Given the description of an element on the screen output the (x, y) to click on. 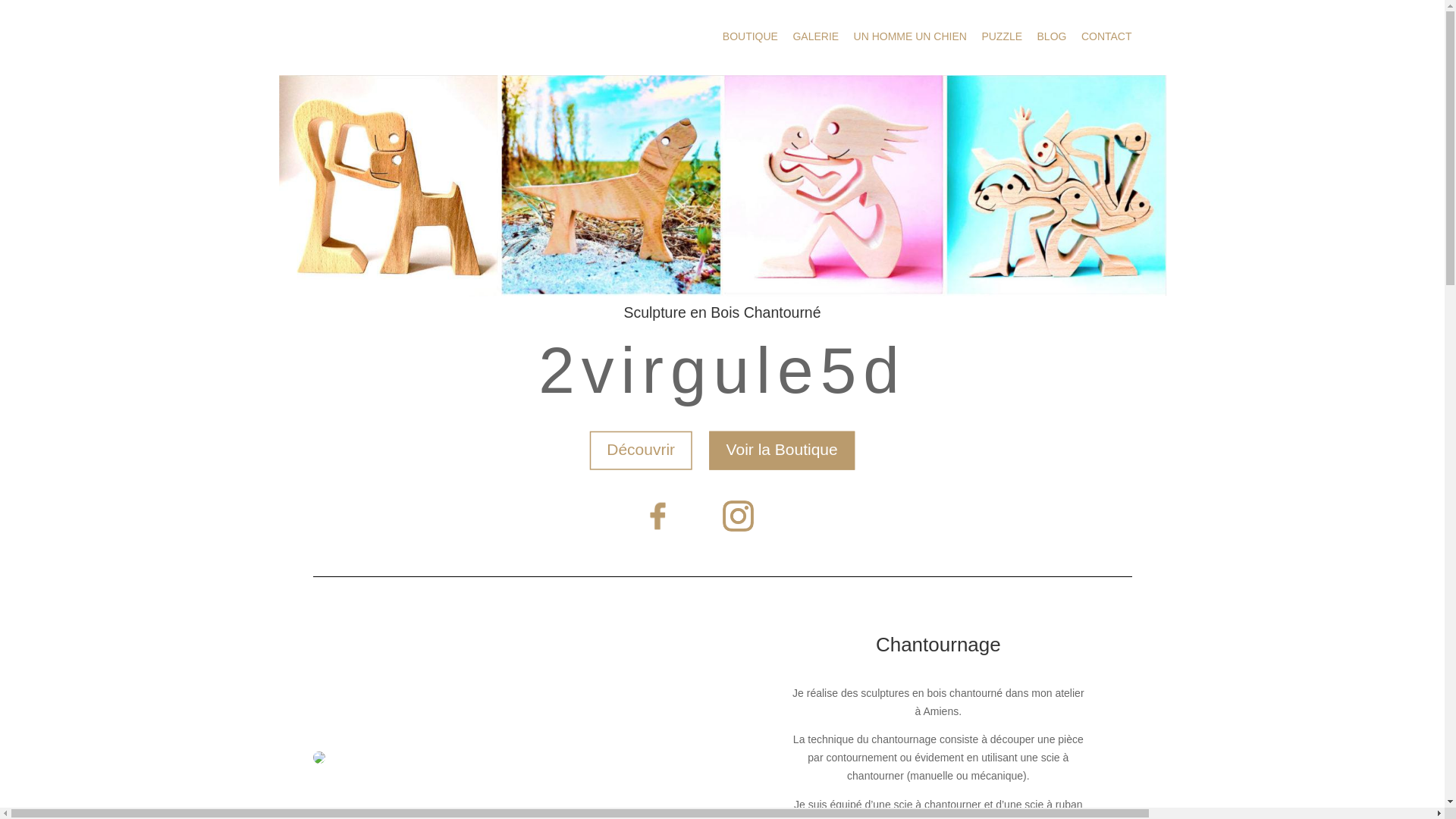
PUZZLE Element type: text (1001, 36)
GALERIE Element type: text (815, 36)
UN HOMME UN CHIEN Element type: text (909, 36)
BLOG Element type: text (1051, 36)
BOUTIQUE Element type: text (751, 36)
CONTACT Element type: text (1106, 36)
Voir la Boutique Element type: text (757, 444)
